Given the description of an element on the screen output the (x, y) to click on. 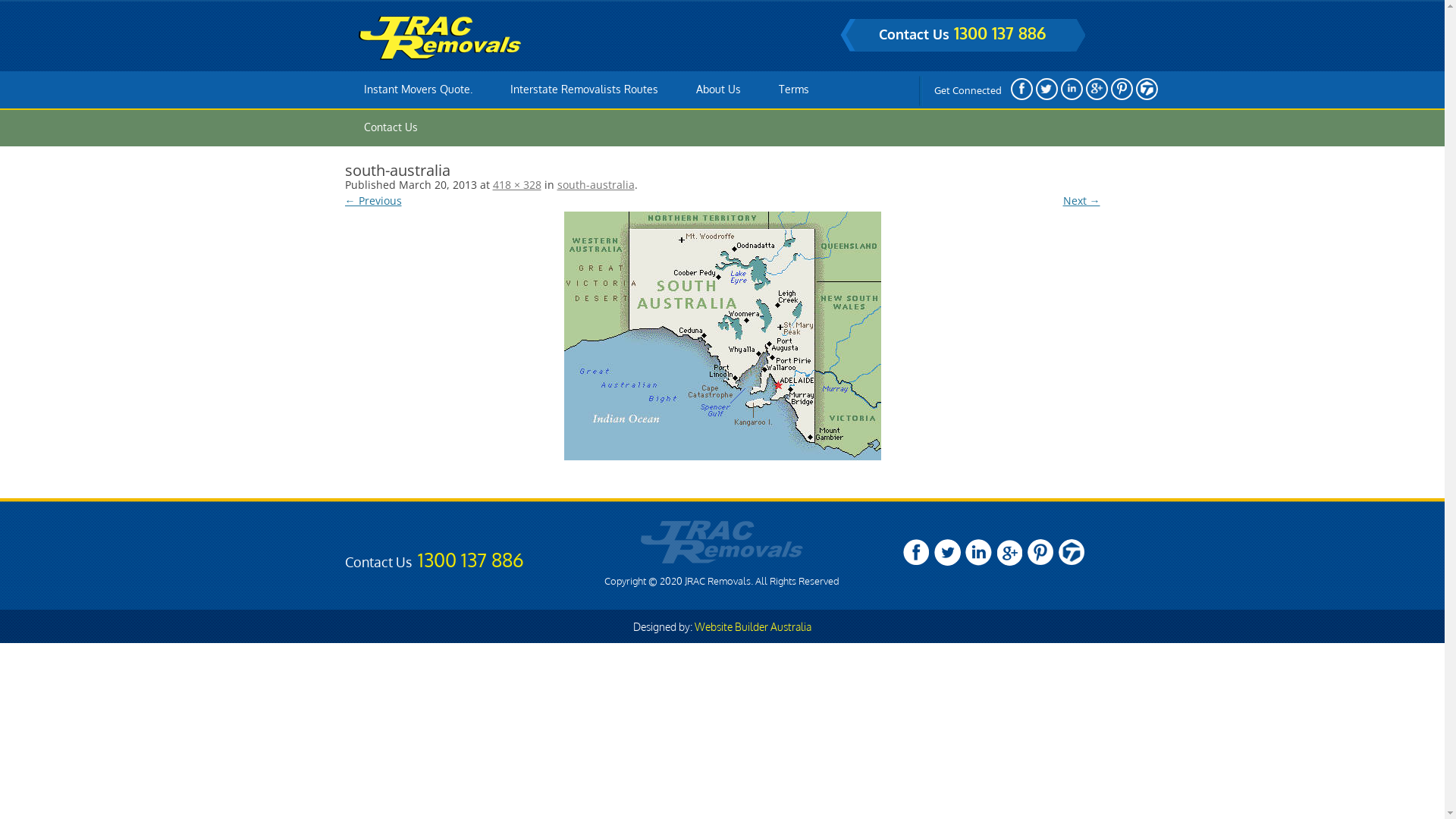
south-australia Element type: hover (721, 335)
Website Builder Australia Element type: text (752, 626)
About Us Element type: text (718, 89)
JRAC Removals Element type: text (439, 37)
Interstate Removalists Routes Element type: text (583, 89)
Instant Movers Quote. Element type: text (418, 89)
Terms Element type: text (793, 89)
south-australia Element type: text (594, 184)
1300 137 886 Element type: text (999, 32)
Contact Us Element type: text (390, 127)
